Given the description of an element on the screen output the (x, y) to click on. 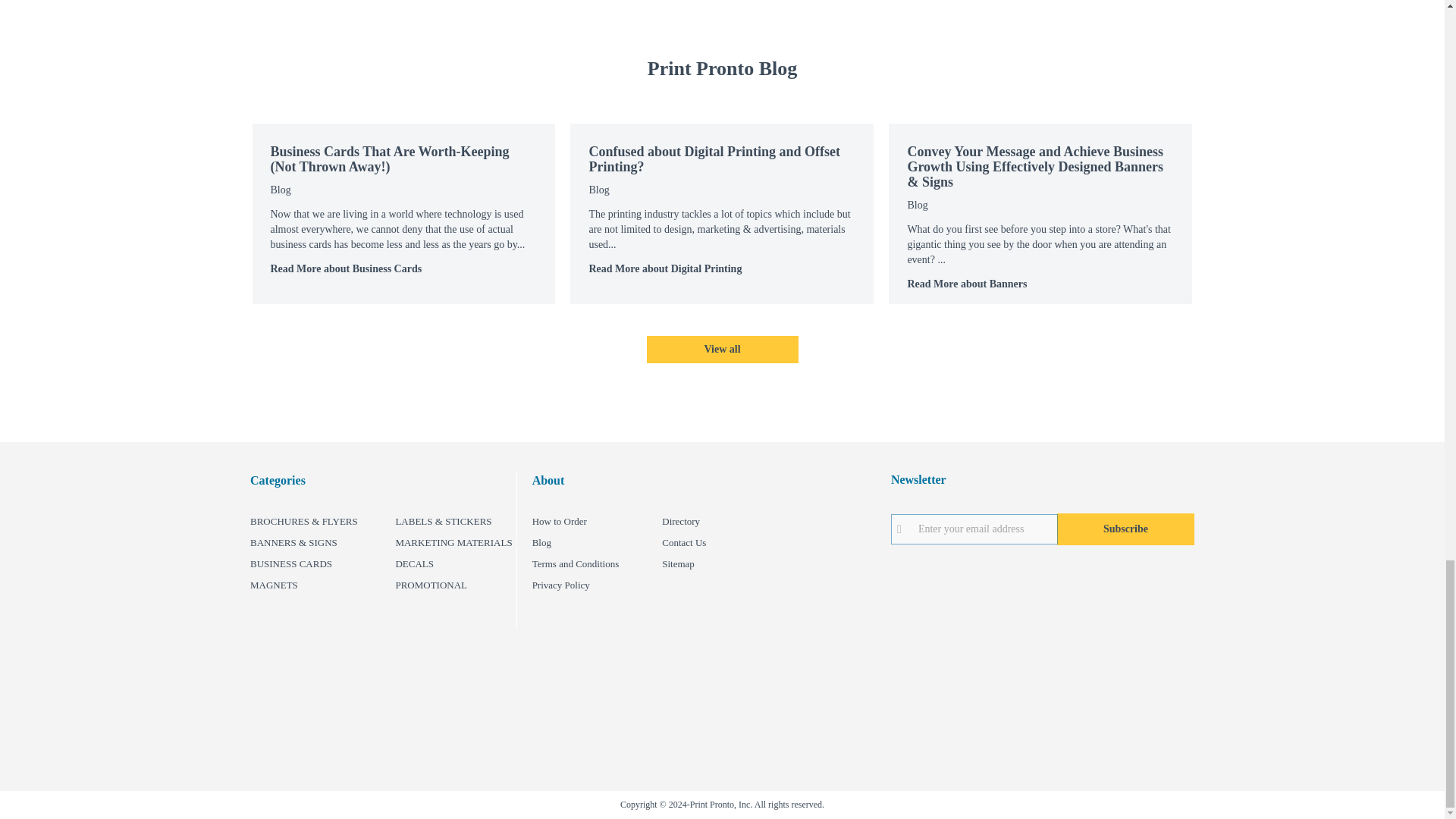
Subscribe (1125, 529)
